Given the description of an element on the screen output the (x, y) to click on. 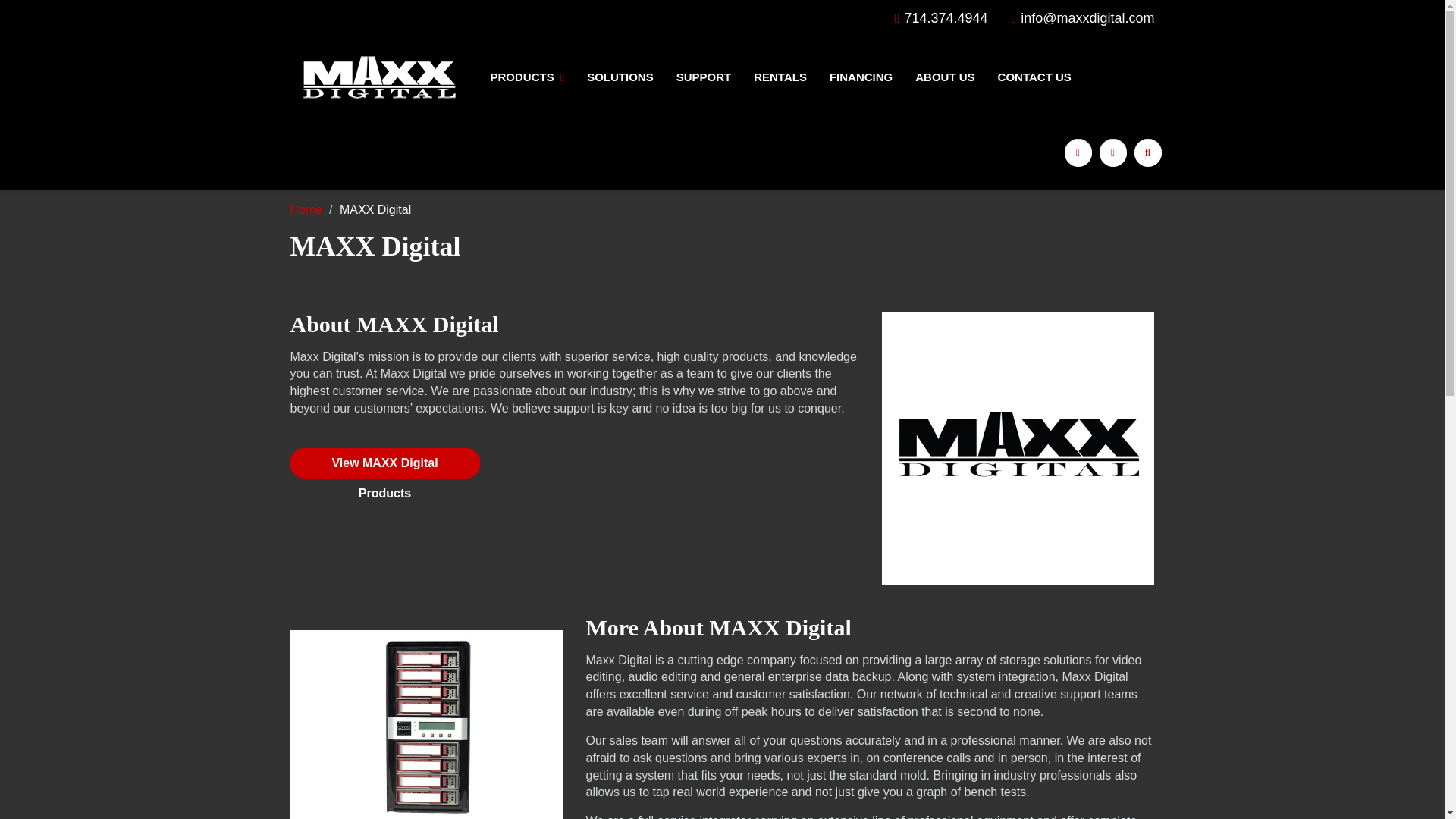
SOLUTIONS (620, 77)
714.374.4944 (941, 18)
RENTALS (780, 77)
Home (305, 209)
CONTACT US (1035, 77)
View MAXX Digital Products (384, 462)
FINANCING (861, 77)
Home (305, 209)
SUPPORT (703, 77)
ABOUT US (944, 77)
